Given the description of an element on the screen output the (x, y) to click on. 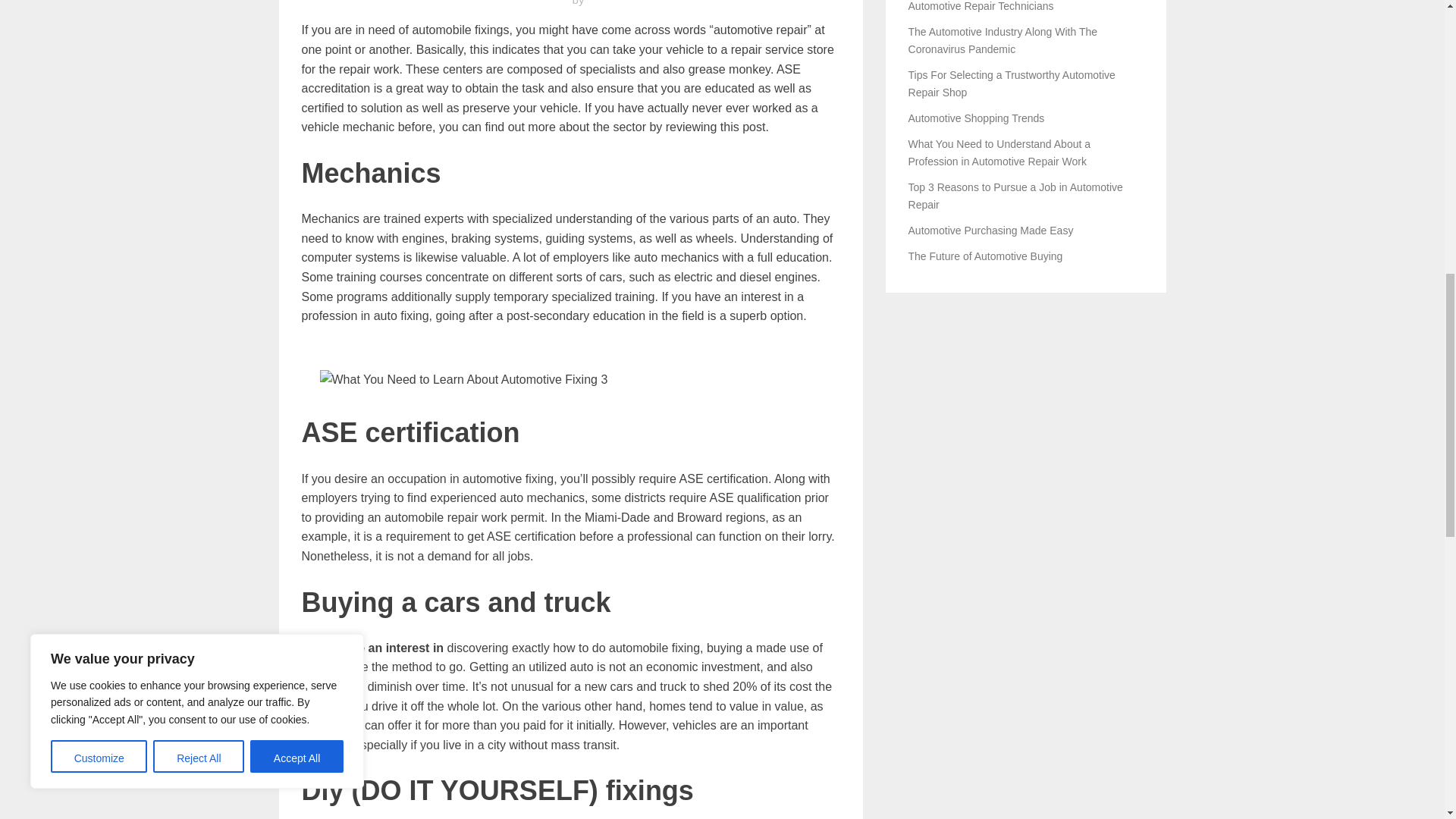
Tips For Selecting a Trustworthy Automotive Repair Shop (1011, 82)
The Automotive Industry Along With The Coronavirus Pandemic (1002, 39)
Automotive Repair Technicians (981, 6)
